Given the description of an element on the screen output the (x, y) to click on. 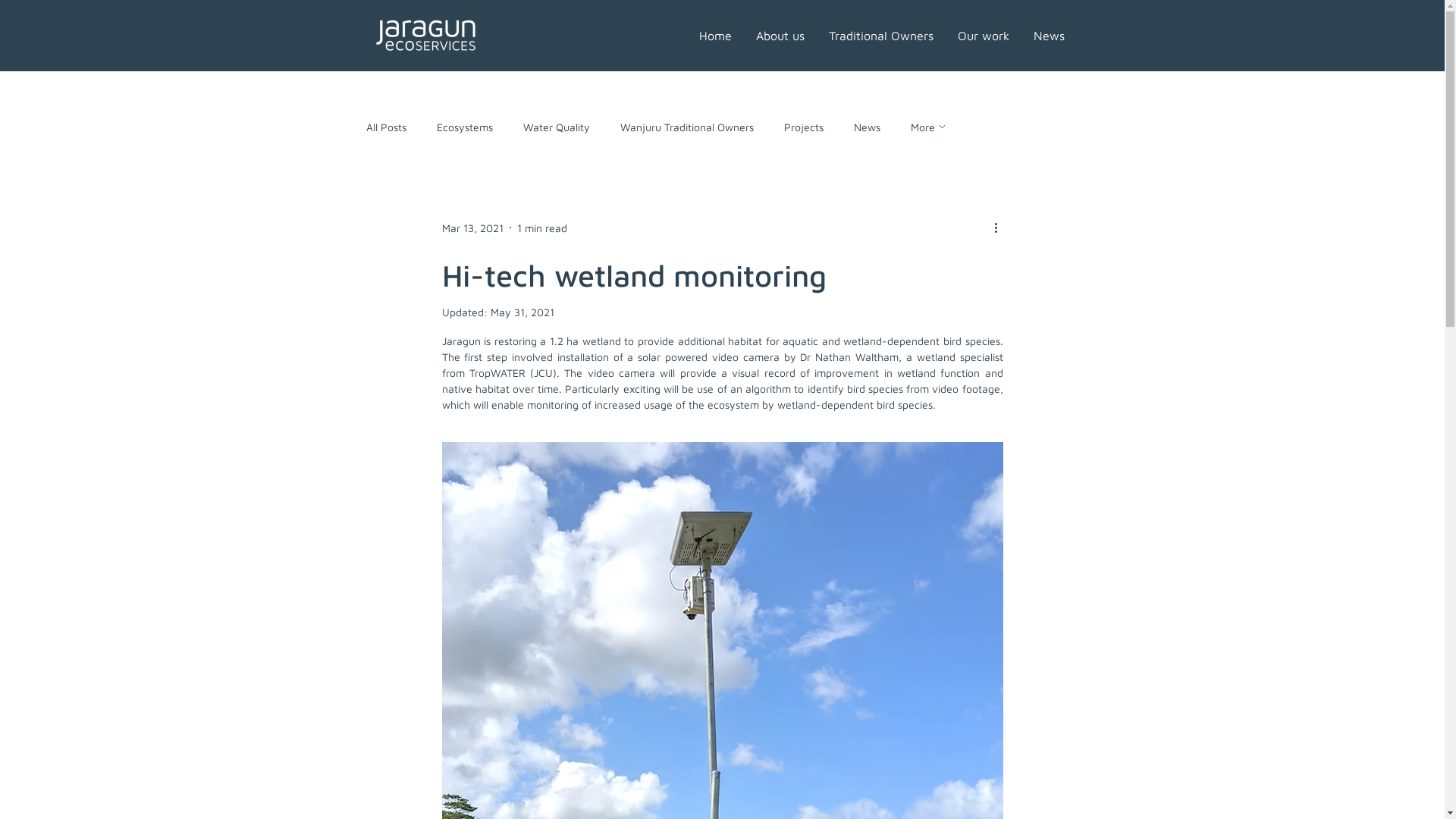
Ecosystems Element type: text (464, 125)
Home Element type: text (715, 35)
Water Quality Element type: text (556, 125)
All Posts Element type: text (385, 125)
Wanjuru Traditional Owners Element type: text (686, 125)
Projects Element type: text (803, 125)
About us Element type: text (779, 35)
Our work Element type: text (982, 35)
Traditional Owners Element type: text (879, 35)
News Element type: text (866, 125)
News Element type: text (1048, 35)
